Given the description of an element on the screen output the (x, y) to click on. 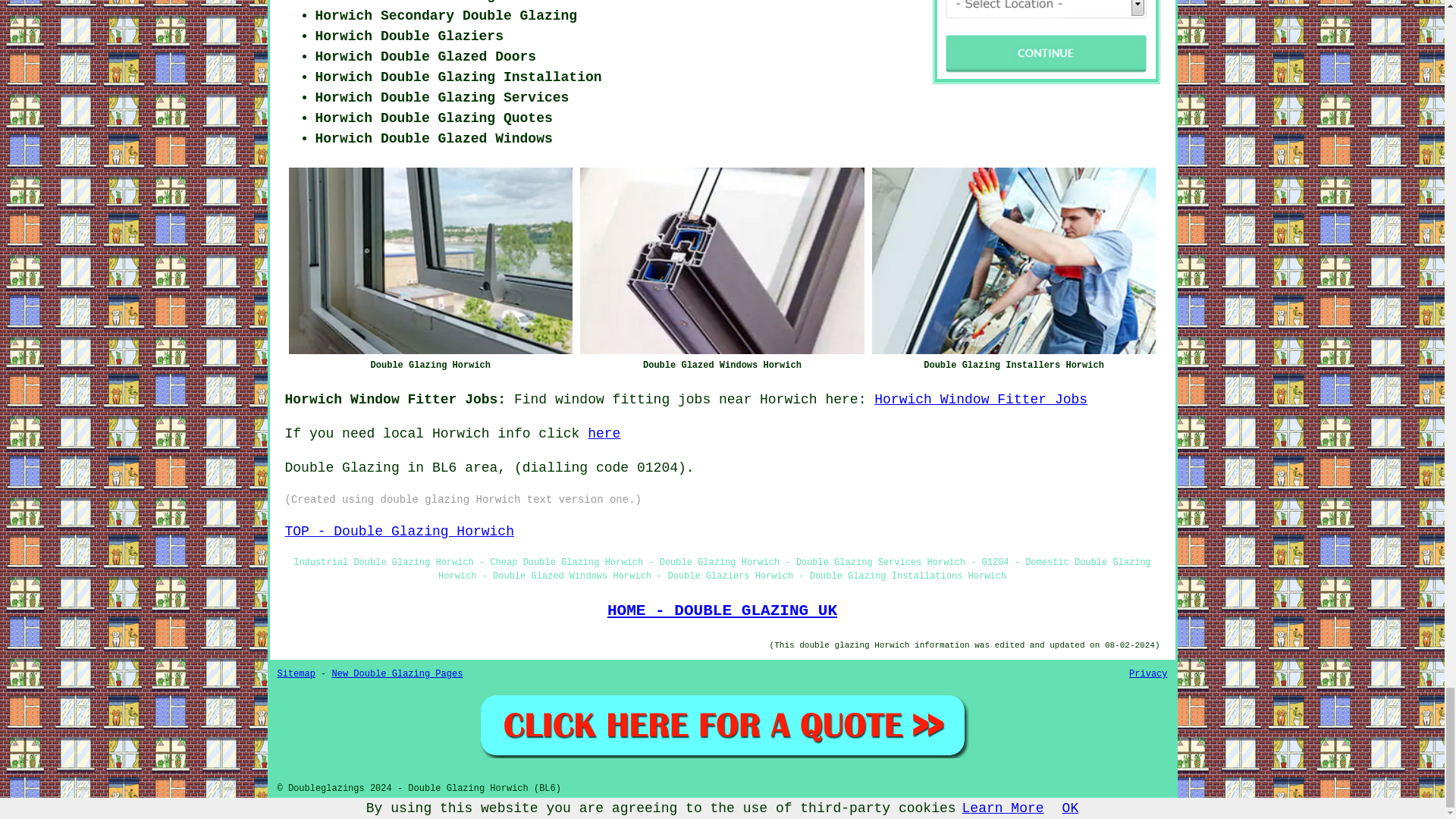
Double Glazing Horwich (430, 260)
Double Glazed Windows Horwich Greater Manchester (721, 260)
Double Glazing Installers Horwich UK (1014, 260)
